Given the description of an element on the screen output the (x, y) to click on. 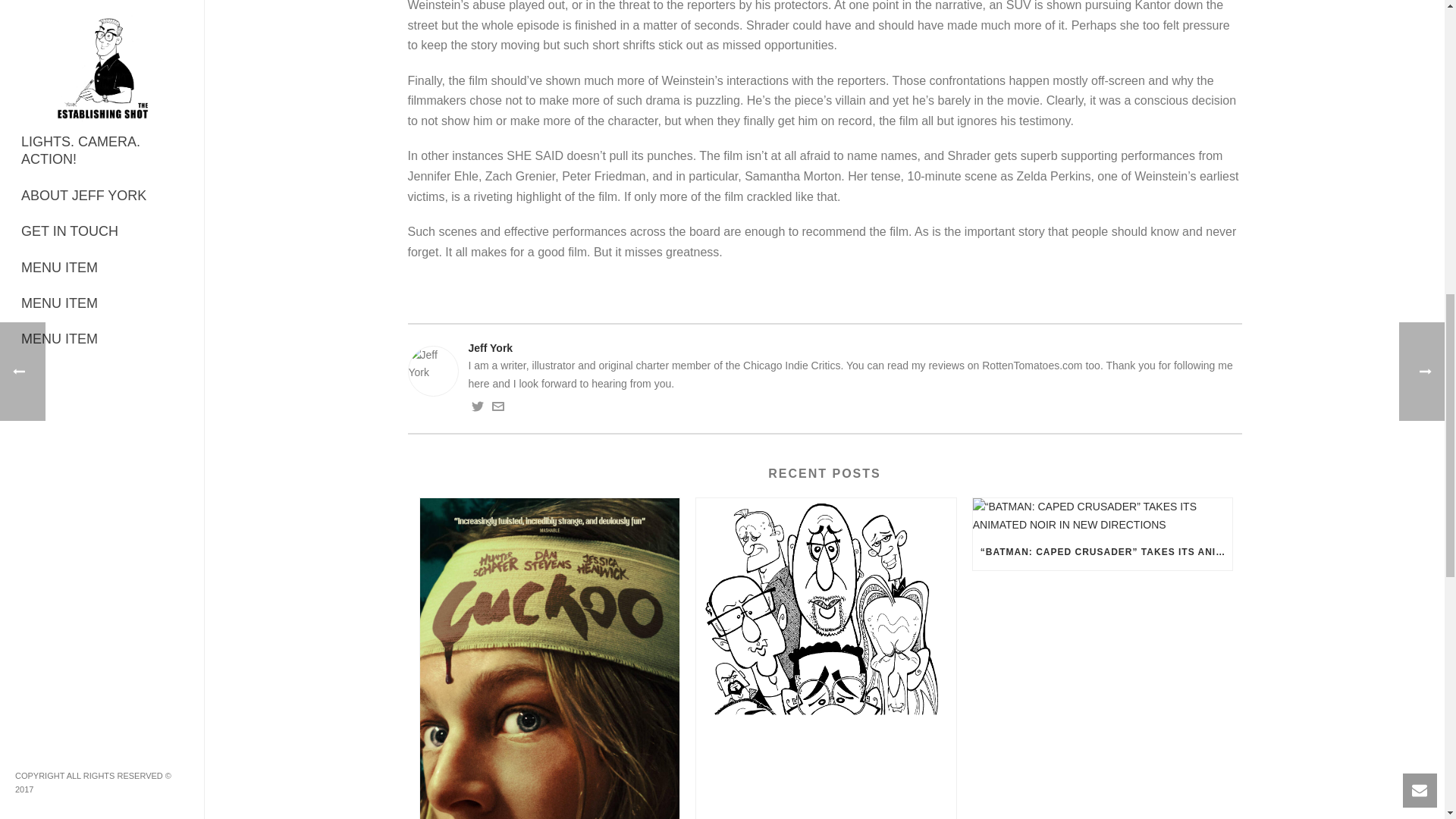
Jeff York (824, 348)
Get in touch with me via email (497, 408)
Follow me on Twitter (477, 408)
